Given the description of an element on the screen output the (x, y) to click on. 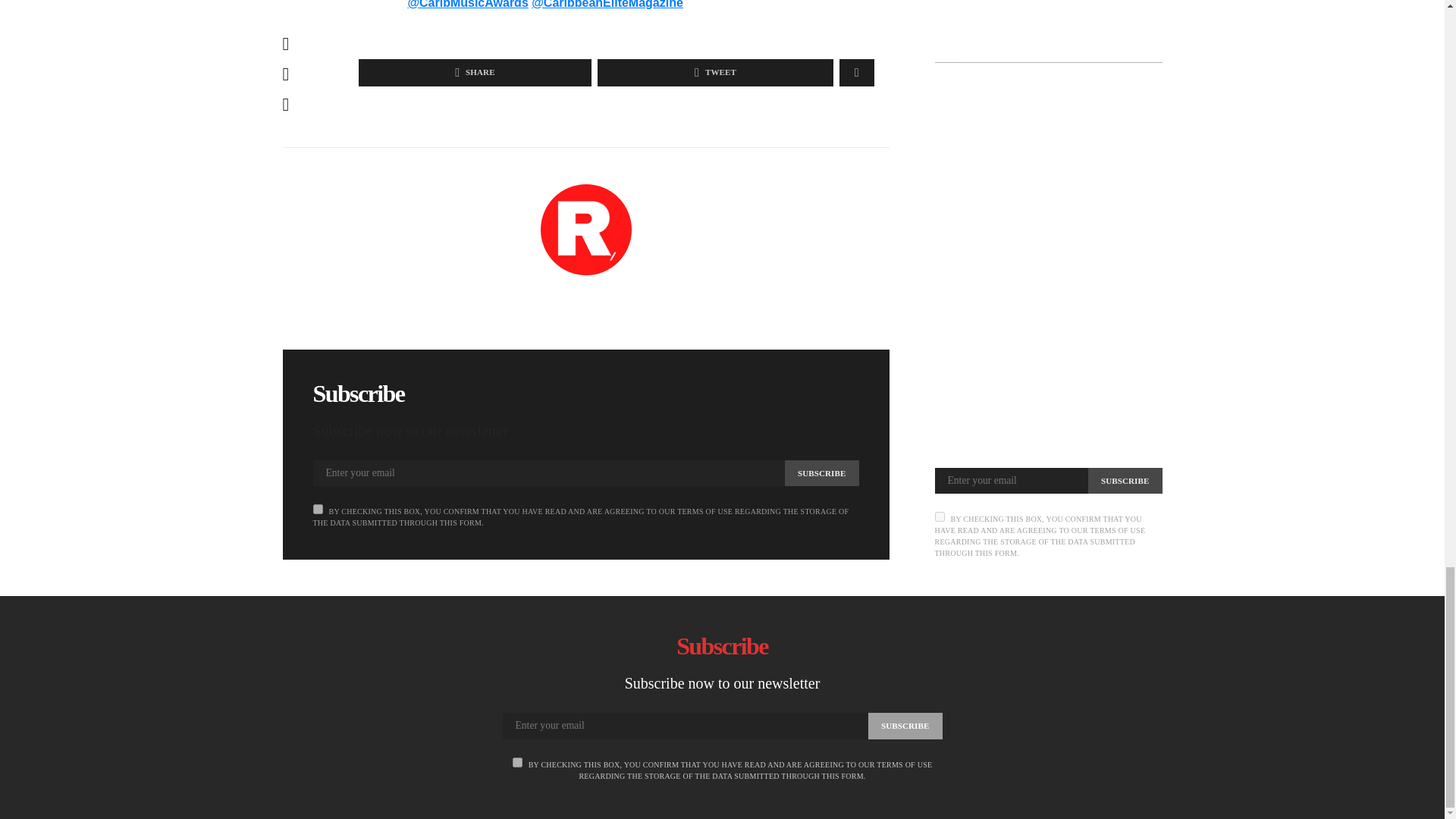
on (517, 762)
on (317, 509)
